Given the description of an element on the screen output the (x, y) to click on. 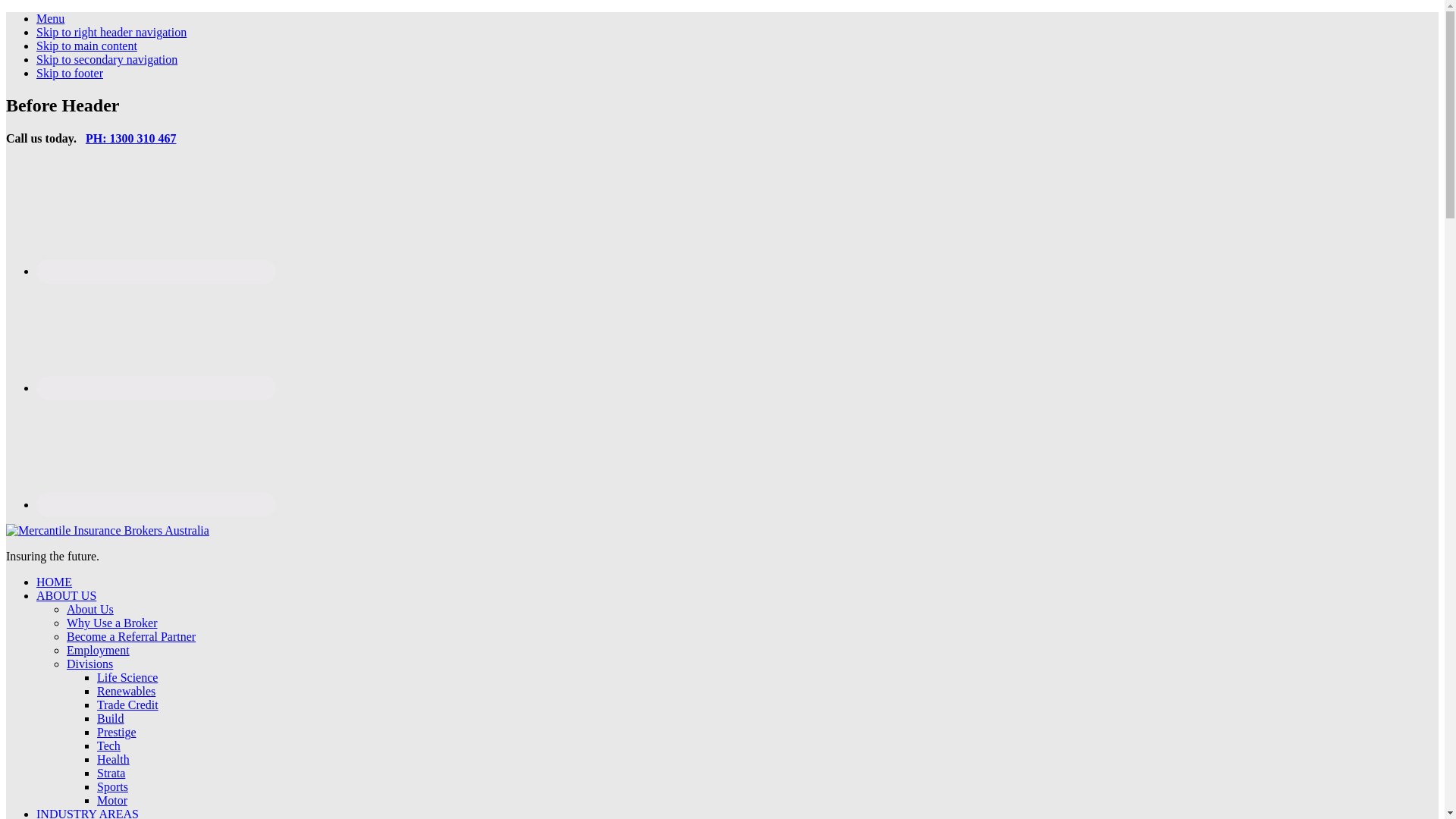
Strata Element type: text (111, 772)
Trade Credit Element type: text (127, 704)
Menu Element type: text (50, 18)
Tech Element type: text (108, 745)
Skip to secondary navigation Element type: text (106, 59)
LinkedIn Element type: text (156, 388)
HOME Element type: text (54, 581)
PH: 1300 310 467 Element type: text (130, 137)
Skip to footer Element type: text (69, 72)
Why Use a Broker Element type: text (111, 622)
Renewables Element type: text (126, 690)
Employment Element type: text (97, 649)
About Us Element type: text (89, 608)
Divisions Element type: text (89, 663)
Facebook Element type: text (156, 271)
ABOUT US Element type: text (66, 595)
Motor Element type: text (112, 799)
Sports Element type: text (112, 786)
Twitter Element type: text (156, 504)
Health Element type: text (113, 759)
Build Element type: text (110, 718)
Skip to right header navigation Element type: text (111, 31)
Become a Referral Partner Element type: text (130, 636)
Life Science Element type: text (127, 677)
Prestige Element type: text (116, 731)
Skip to main content Element type: text (86, 45)
